Given the description of an element on the screen output the (x, y) to click on. 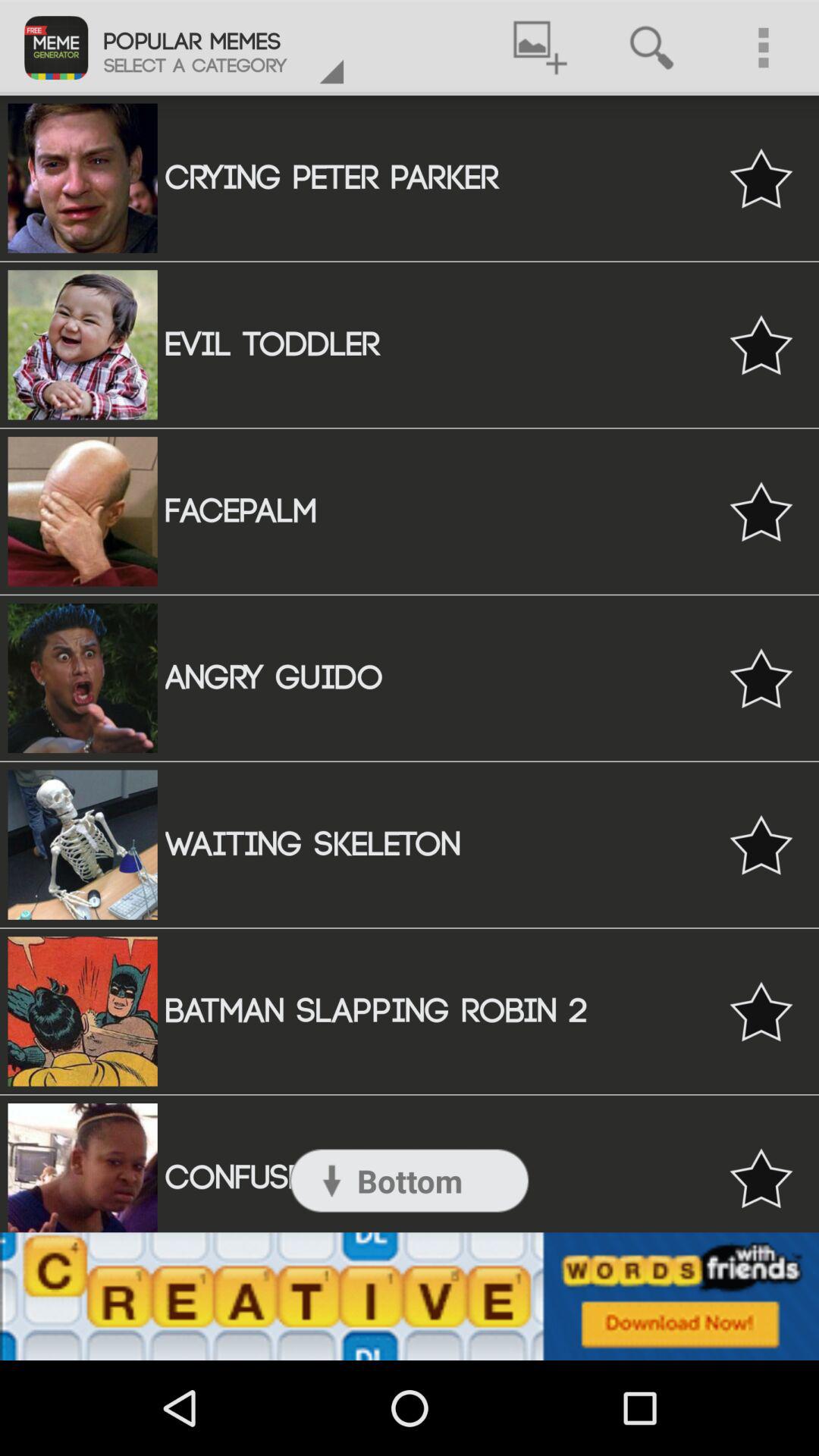
favorite (761, 1011)
